Given the description of an element on the screen output the (x, y) to click on. 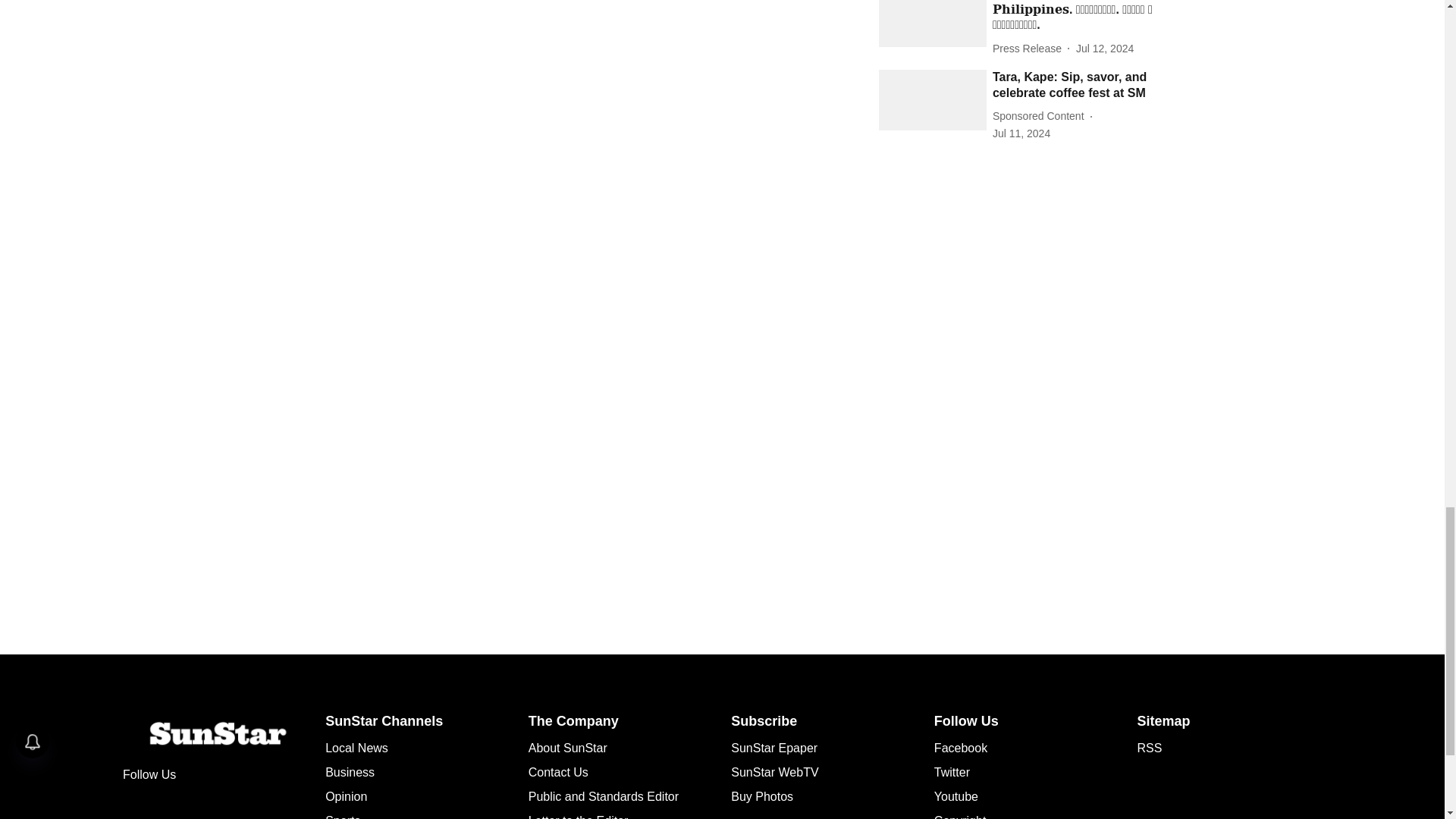
2024-07-12 02:00 (1104, 48)
2024-07-11 00:59 (1020, 133)
